Given the description of an element on the screen output the (x, y) to click on. 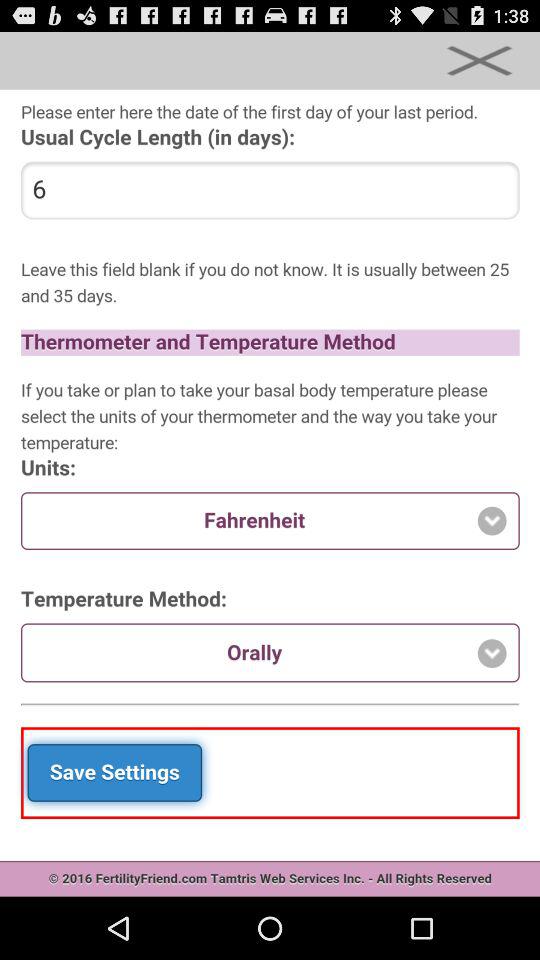
close option (479, 60)
